Given the description of an element on the screen output the (x, y) to click on. 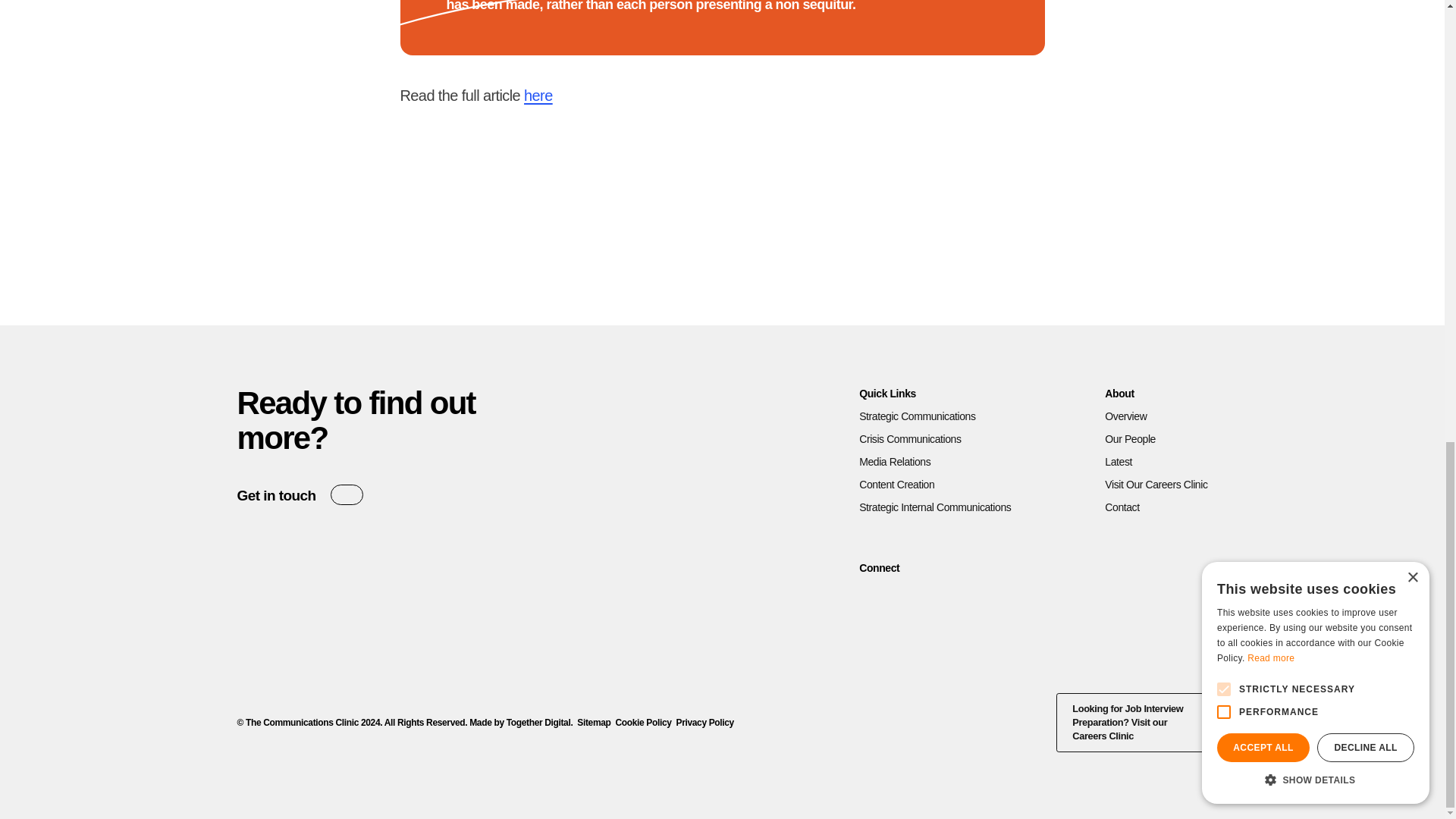
LinkedIn (721, 234)
here (538, 95)
Twitter (686, 234)
Facebook (651, 234)
Email (756, 234)
WhatsApp (791, 234)
